Given the description of an element on the screen output the (x, y) to click on. 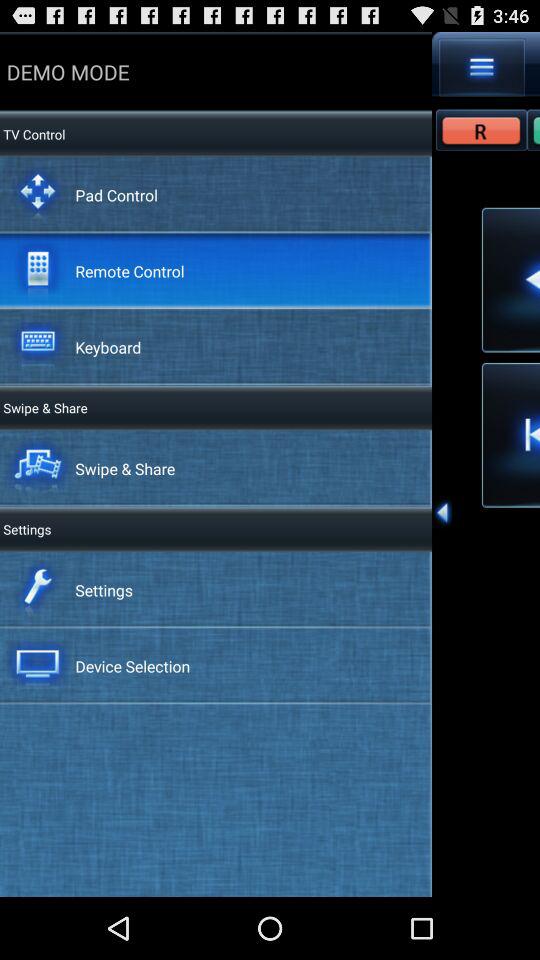
press the pad control icon (116, 194)
